Given the description of an element on the screen output the (x, y) to click on. 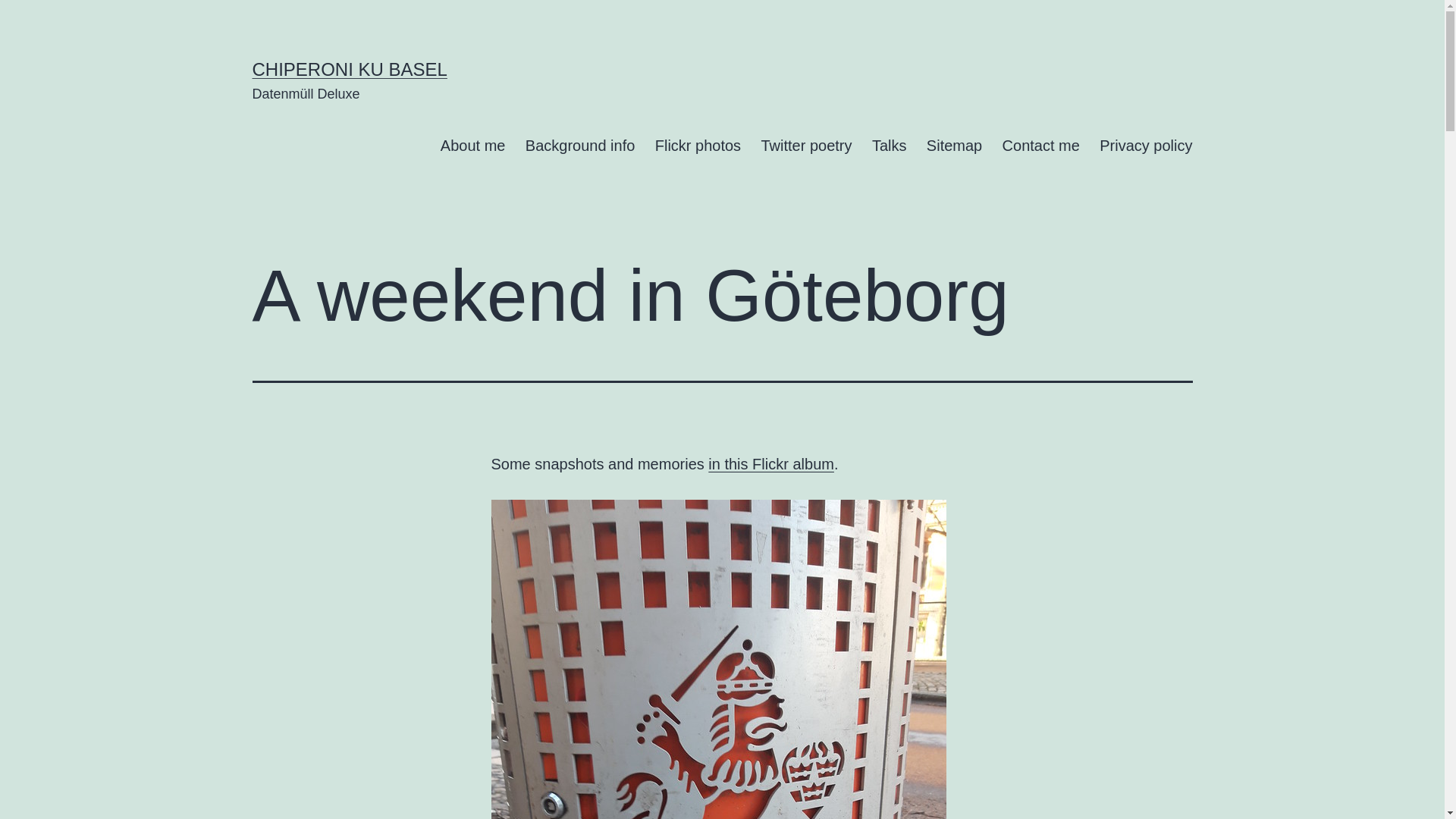
Talks Element type: text (889, 144)
Twitter poetry Element type: text (805, 144)
CHIPERONI KU BASEL Element type: text (348, 69)
Privacy policy Element type: text (1145, 144)
in this Flickr album Element type: text (771, 463)
Background info Element type: text (580, 144)
About me Element type: text (472, 144)
Sitemap Element type: text (954, 144)
Flickr photos Element type: text (698, 144)
Contact me Element type: text (1040, 144)
